Given the description of an element on the screen output the (x, y) to click on. 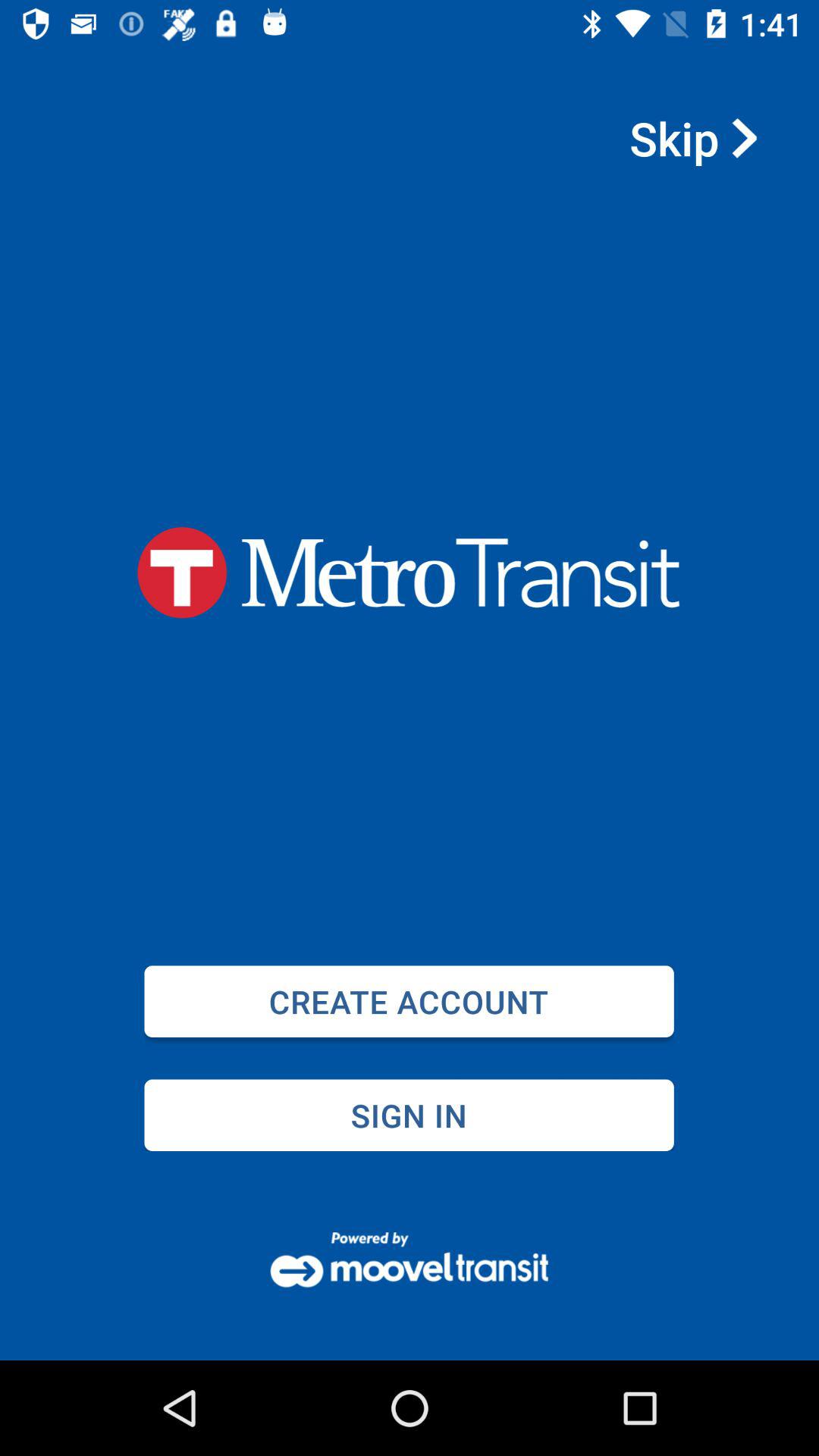
press the icon above the sign in icon (408, 1001)
